Given the description of an element on the screen output the (x, y) to click on. 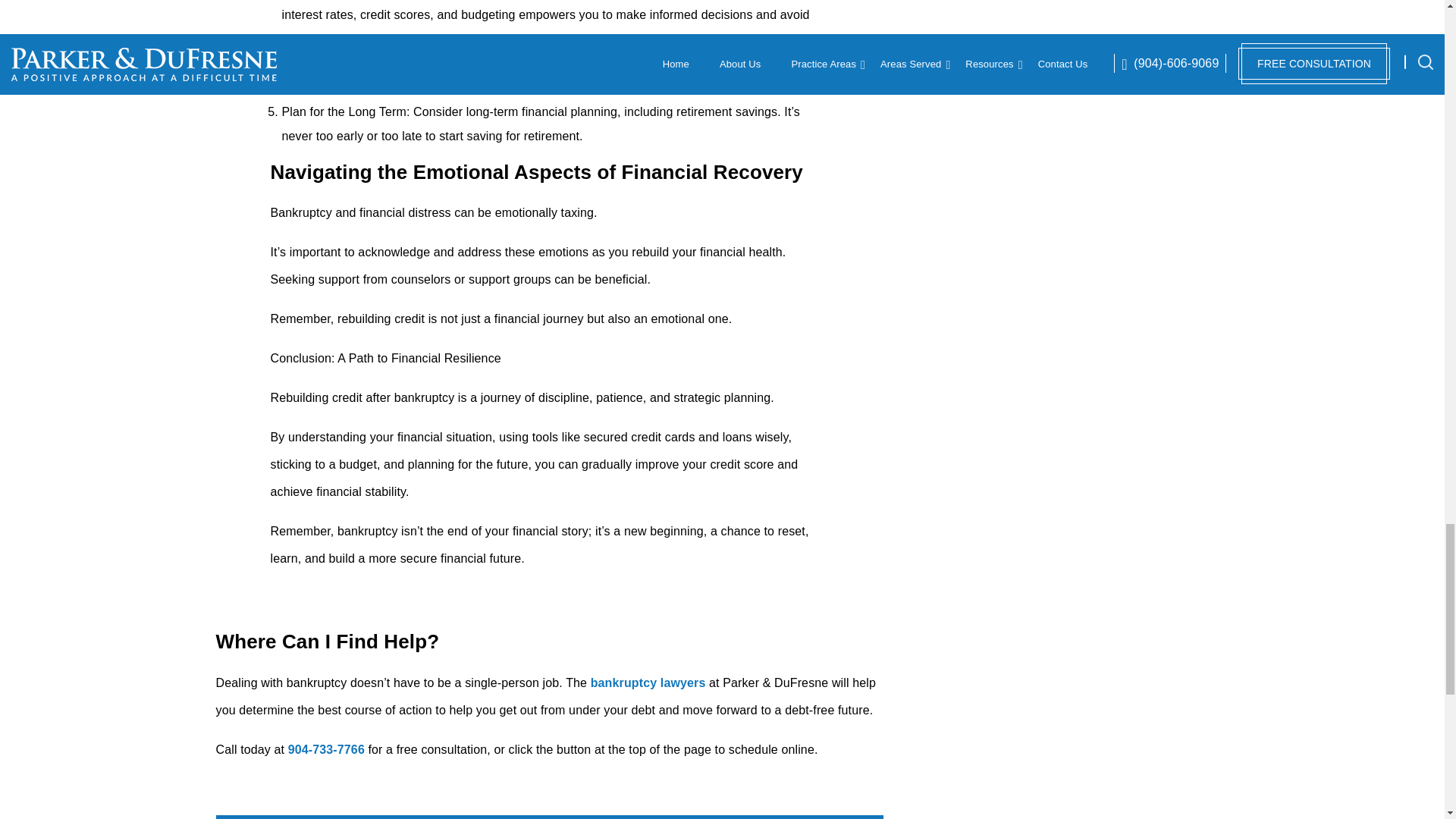
bankruptcy lawyers (648, 682)
904-733-7766 (326, 748)
